Given the description of an element on the screen output the (x, y) to click on. 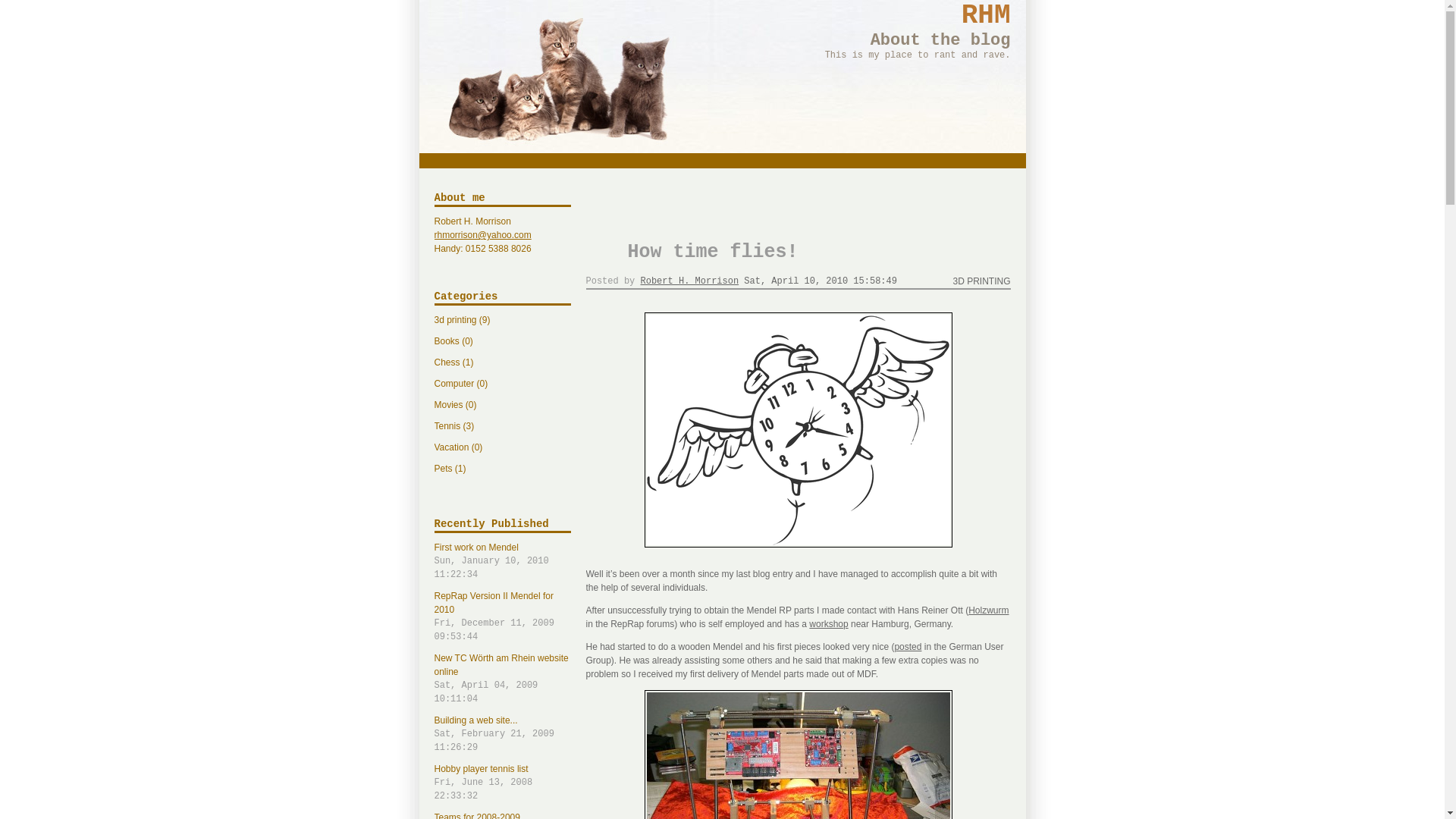
posted (501, 734)
RHM (907, 646)
How time flies! (985, 15)
3D PRINTING (691, 251)
Sat, April 10, 2010 15:58:49 (981, 281)
workshop (820, 281)
Holzwurm (828, 624)
